Given the description of an element on the screen output the (x, y) to click on. 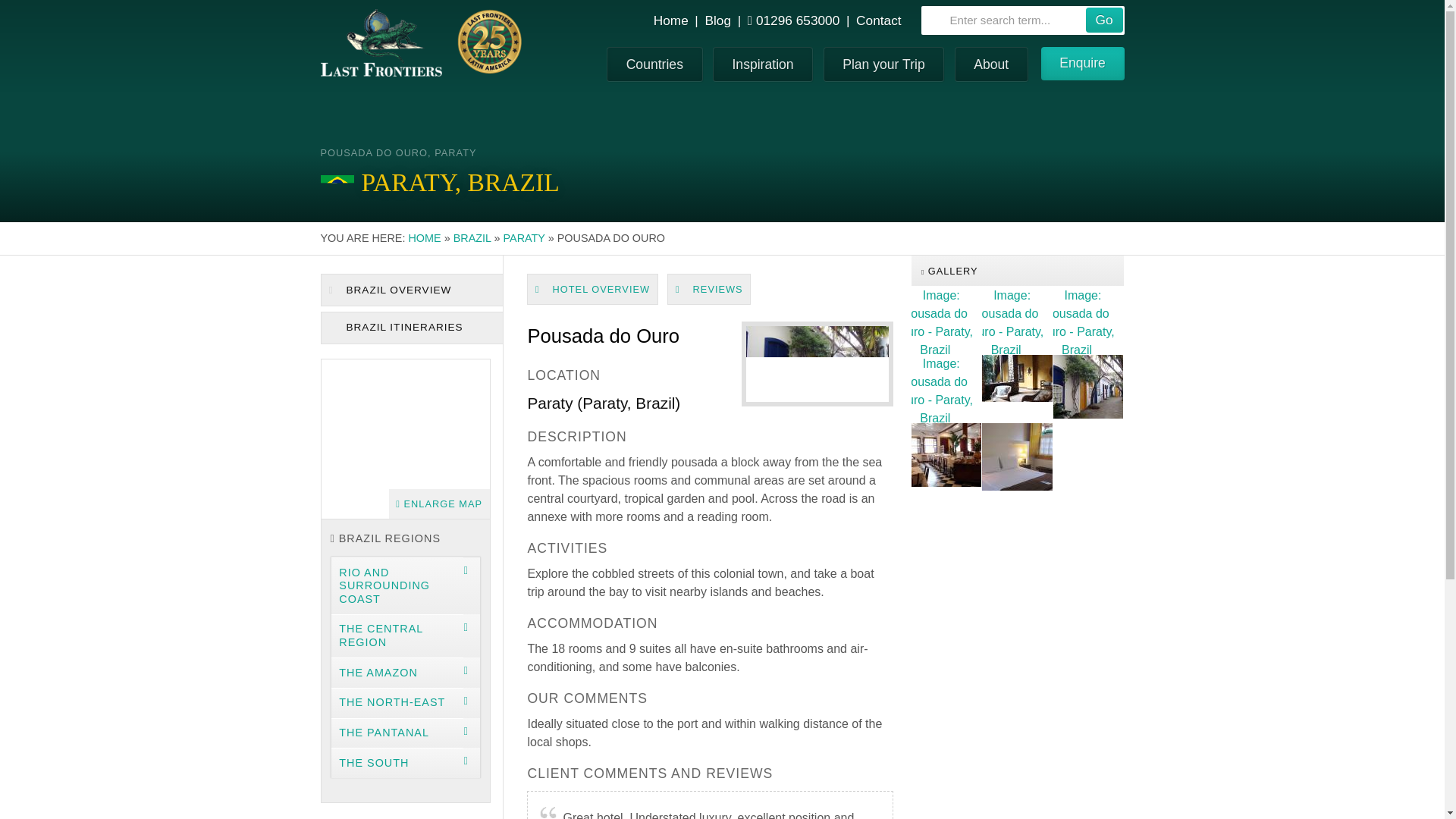
Countries (655, 63)
Enquire (1082, 63)
Inspiration (762, 63)
25 years of tailor-made travel (489, 41)
Pousada do Ouro (1016, 457)
Pousada do Ouro (1016, 320)
Blog (717, 20)
Brazil region map (404, 438)
Pousada do Ouro (946, 320)
Go (1104, 19)
Pousada do Ouro (1088, 320)
Pousada do Ouro (1016, 388)
Pousada do Ouro (946, 457)
Contact (878, 20)
Home (670, 20)
